Given the description of an element on the screen output the (x, y) to click on. 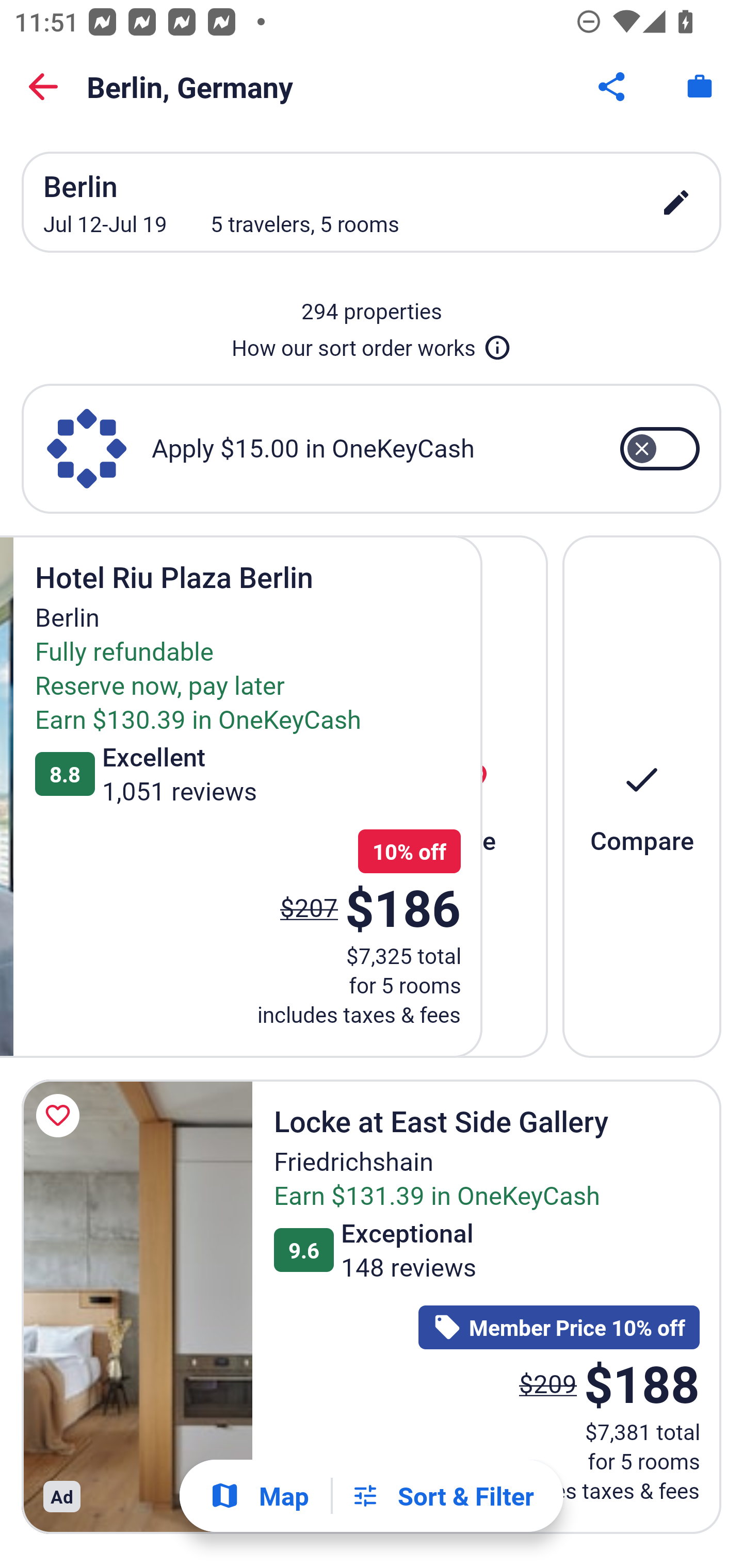
Back (43, 86)
Share Button (612, 86)
Trips. Button (699, 86)
Berlin Jul 12-Jul 19 5 travelers, 5 rooms edit (371, 202)
How our sort order works (371, 344)
Compare (641, 796)
$207 The price was $207 (308, 906)
Save Locke at East Side Gallery to a trip (61, 1115)
Locke at East Side Gallery (136, 1305)
$209 The price was $209 (547, 1383)
Filters Sort & Filter Filters Button (442, 1495)
Show map Map Show map Button (258, 1495)
